Given the description of an element on the screen output the (x, y) to click on. 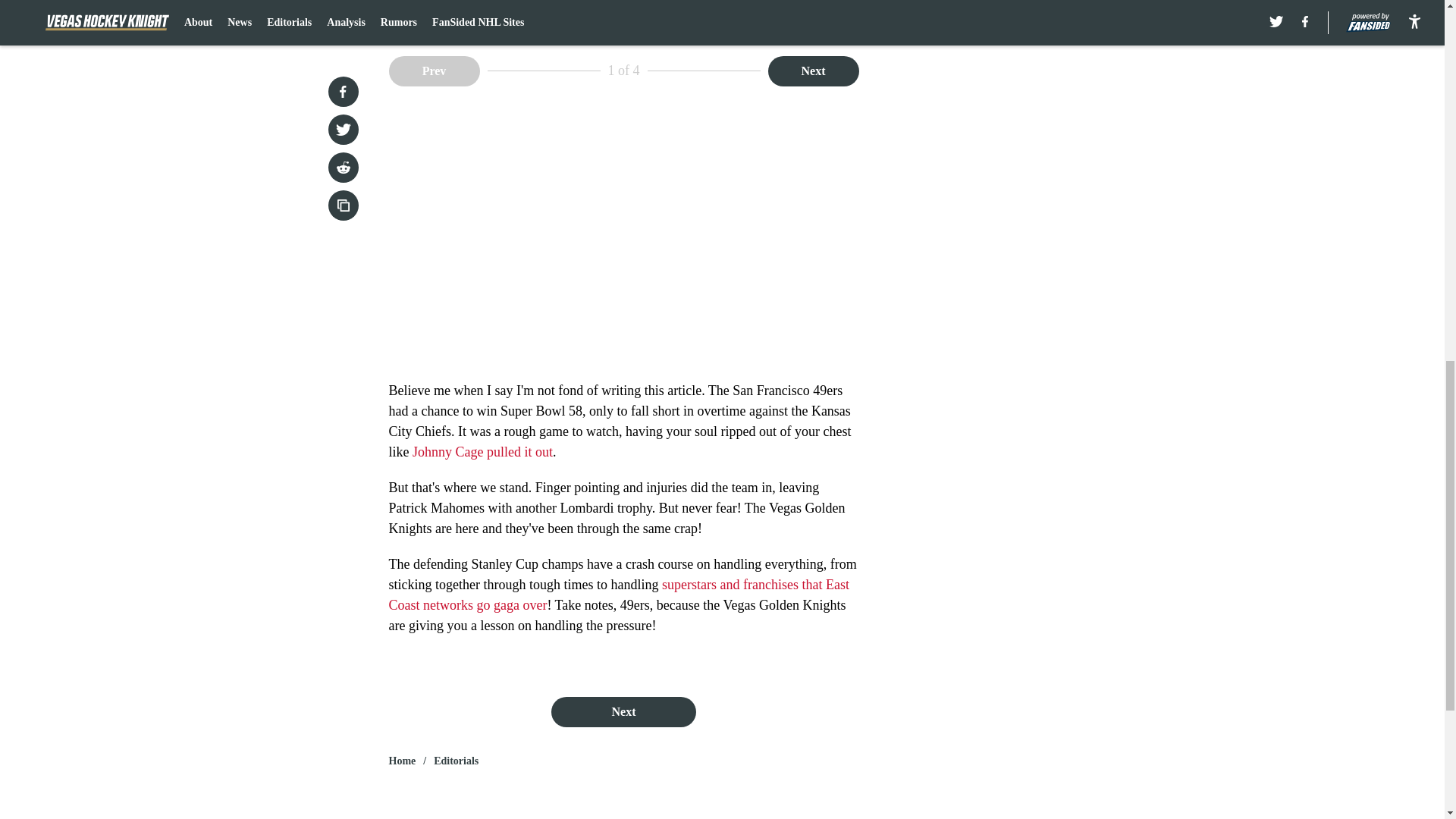
Prev (433, 71)
Next (622, 711)
Editorials (456, 761)
Johnny Cage pulled it out (482, 451)
Next (813, 71)
Home (401, 761)
